Given the description of an element on the screen output the (x, y) to click on. 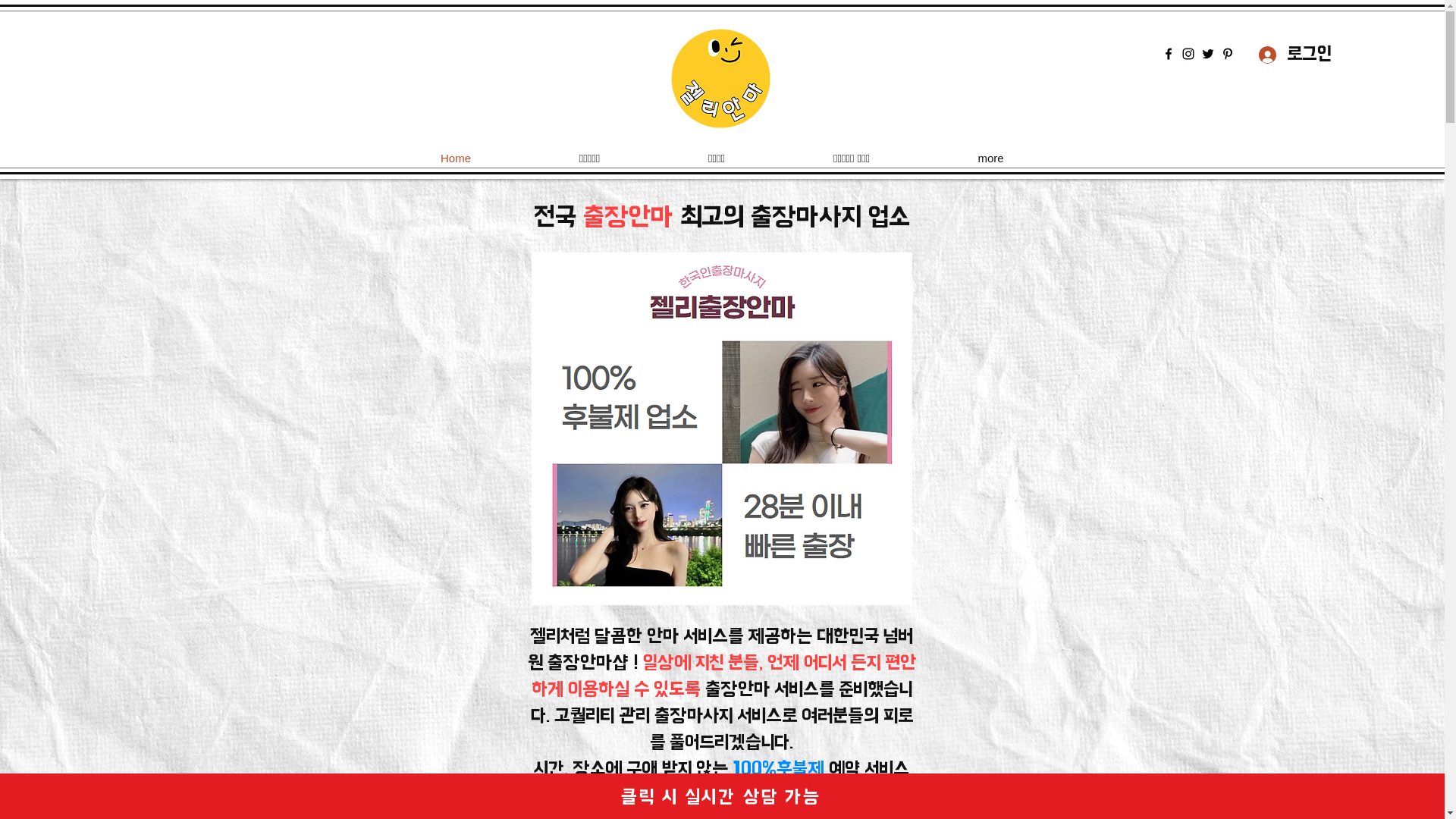
Home Element type: text (455, 158)
